Given the description of an element on the screen output the (x, y) to click on. 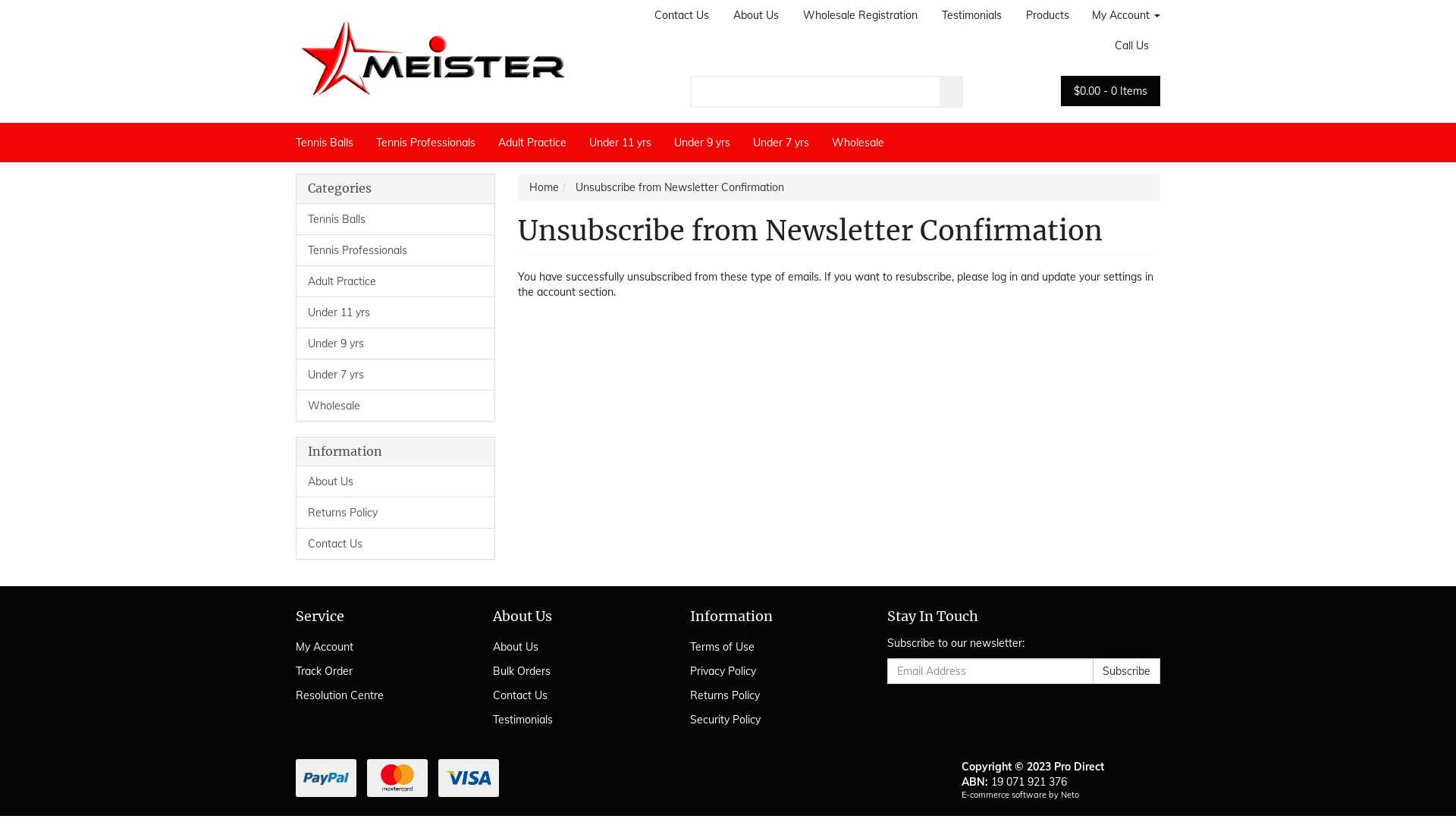
Under 11 yrs Element type: text (395, 311)
$0.00 - 0 Items Element type: text (1110, 90)
Privacy Policy Element type: text (771, 670)
Tennis Professionals Element type: text (425, 142)
Contact Us Element type: text (395, 542)
Wholesale Registration Element type: text (859, 15)
Adult Practice Element type: text (531, 142)
My Account Element type: text (1120, 15)
Adult Practice Element type: text (395, 280)
Under 9 yrs Element type: text (701, 142)
Subscribe Element type: text (1126, 671)
Returns Policy Element type: text (395, 511)
Contact Us Element type: text (681, 15)
Returns Policy Element type: text (771, 695)
Search Element type: text (951, 91)
Tennis Balls Element type: text (395, 218)
Wholesale Element type: text (395, 404)
Under 11 yrs Element type: text (619, 142)
Under 7 yrs Element type: text (395, 373)
Wholesale Element type: text (857, 142)
About Us Element type: text (395, 481)
Call Us Element type: text (1131, 45)
Terms of Use Element type: text (771, 646)
Under 9 yrs Element type: text (395, 342)
Tennis Professionals Element type: text (395, 249)
About Us Element type: text (574, 646)
Pro Direct Element type: hover (431, 52)
Security Policy Element type: text (771, 719)
Contact Us Element type: text (574, 695)
Home Element type: text (543, 187)
Testimonials Element type: text (971, 15)
Track Order Element type: text (377, 670)
Resolution Centre Element type: text (377, 695)
Bulk Orders Element type: text (574, 670)
Unsubscribe from Newsletter Confirmation Element type: text (678, 187)
Testimonials Element type: text (574, 719)
Tennis Balls Element type: text (329, 142)
Neto Element type: text (1069, 794)
Under 7 yrs Element type: text (780, 142)
My Account Element type: text (377, 646)
About Us Element type: text (755, 15)
Products Element type: text (1047, 15)
